Given the description of an element on the screen output the (x, y) to click on. 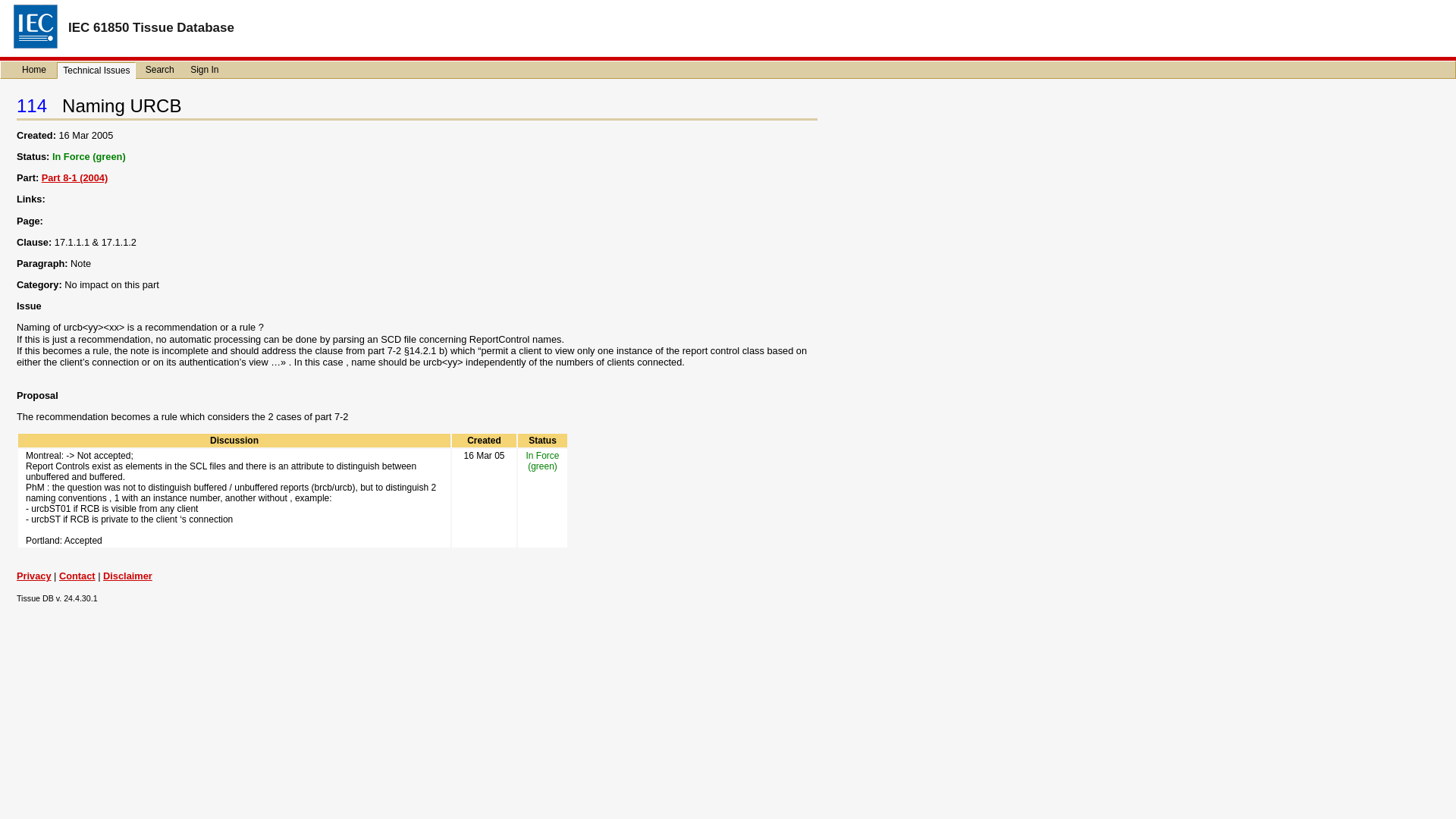
Home (34, 69)
Disclaimer (127, 575)
Contact (77, 575)
Technical Issues (95, 70)
Search (159, 69)
Sign In (204, 69)
Privacy (33, 575)
